Given the description of an element on the screen output the (x, y) to click on. 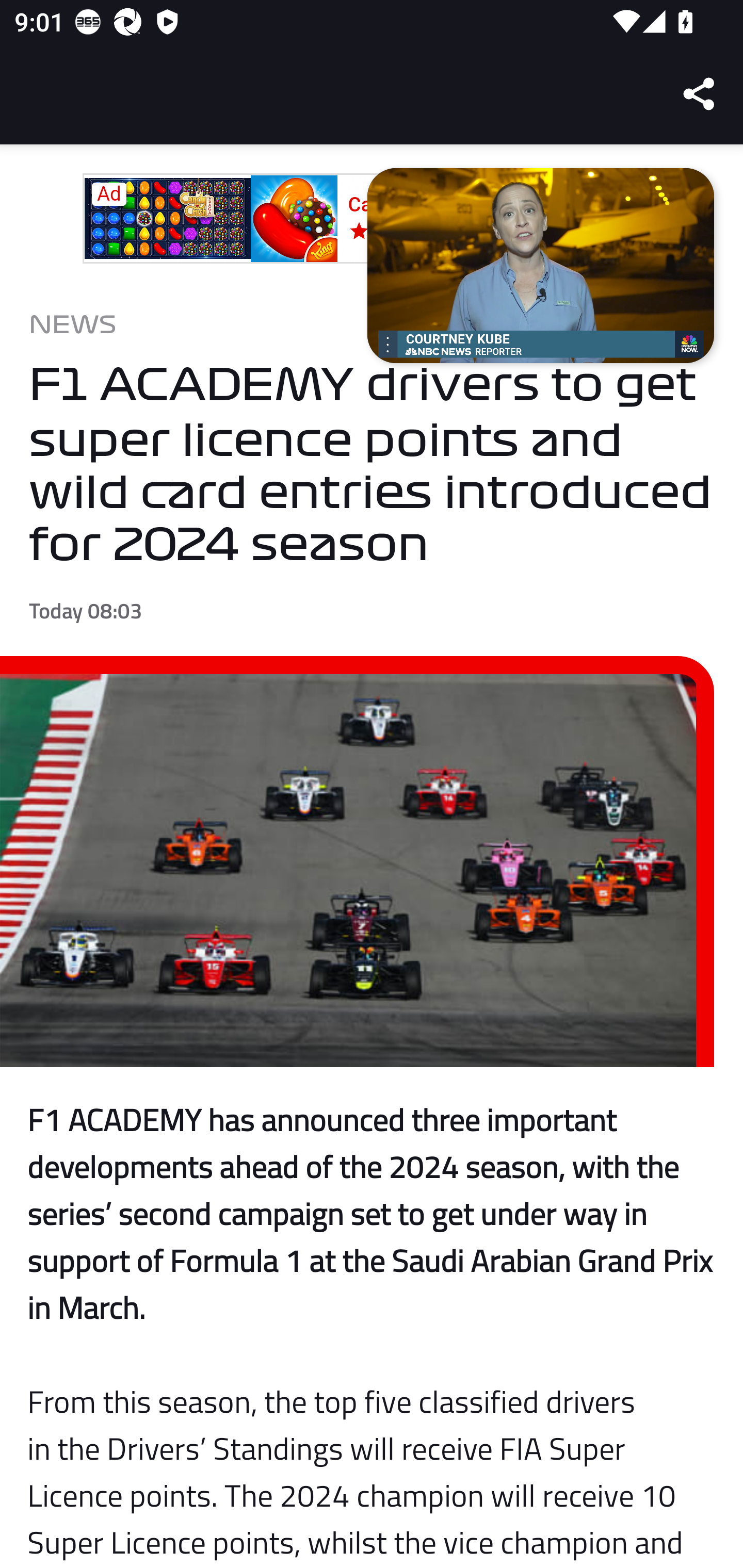
Share (699, 93)
